Given the description of an element on the screen output the (x, y) to click on. 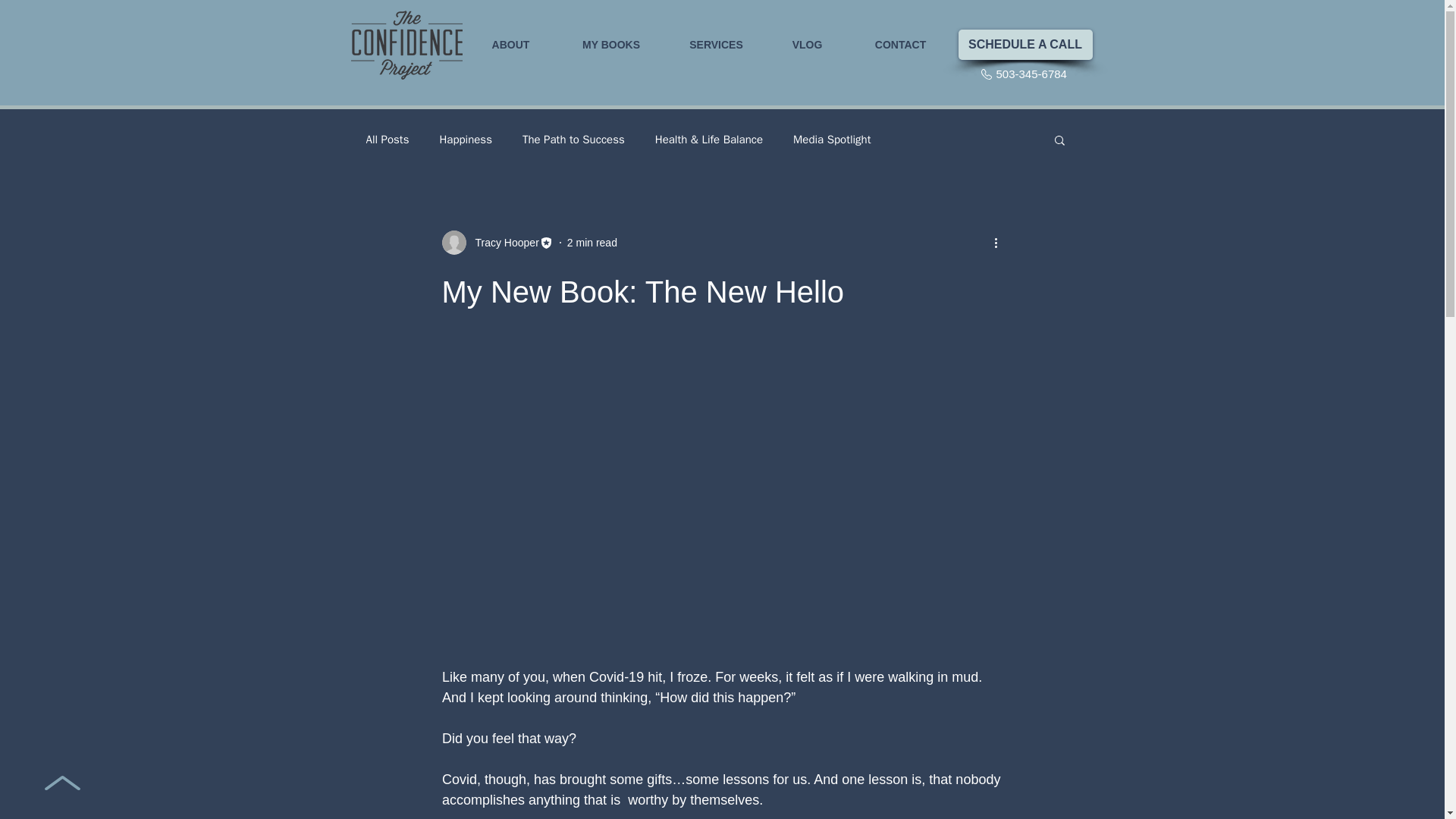
VLOG (806, 44)
All Posts (387, 138)
Happiness (465, 138)
Tracy Hooper (501, 242)
ABOUT (510, 44)
CONTACT (899, 44)
The Path to Success (573, 138)
SERVICES (715, 44)
MY BOOKS (611, 44)
2 min read (592, 242)
Media Spotlight (831, 138)
SCHEDULE A CALL (1025, 44)
